Given the description of an element on the screen output the (x, y) to click on. 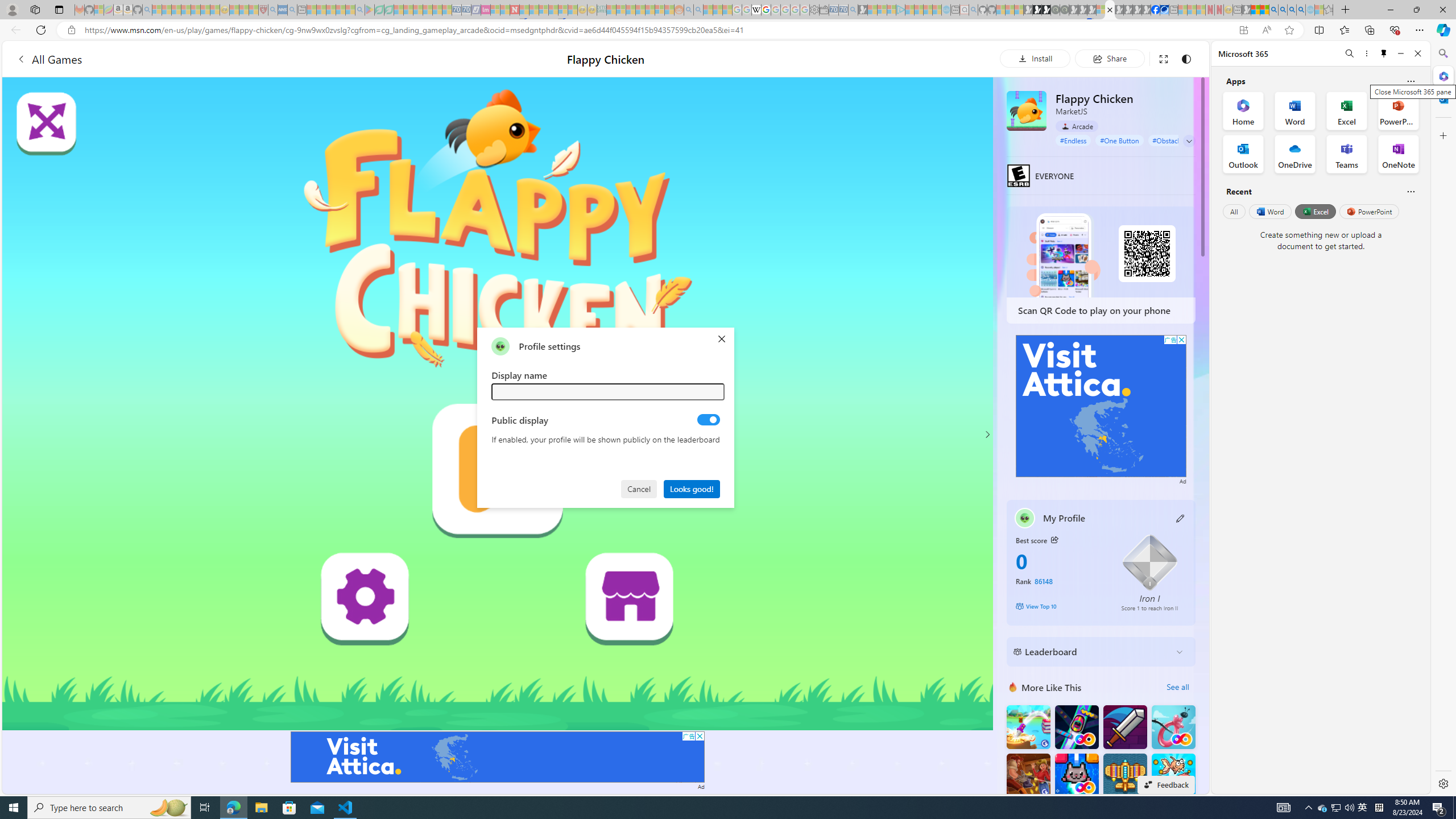
Class: button edit-icon (1180, 517)
Expert Portfolios - Sleeping (639, 9)
Class: button (1053, 539)
Excel (1315, 210)
#Endless (1073, 140)
Kinda Frugal - MSN - Sleeping (649, 9)
More Like This (1012, 686)
